Given the description of an element on the screen output the (x, y) to click on. 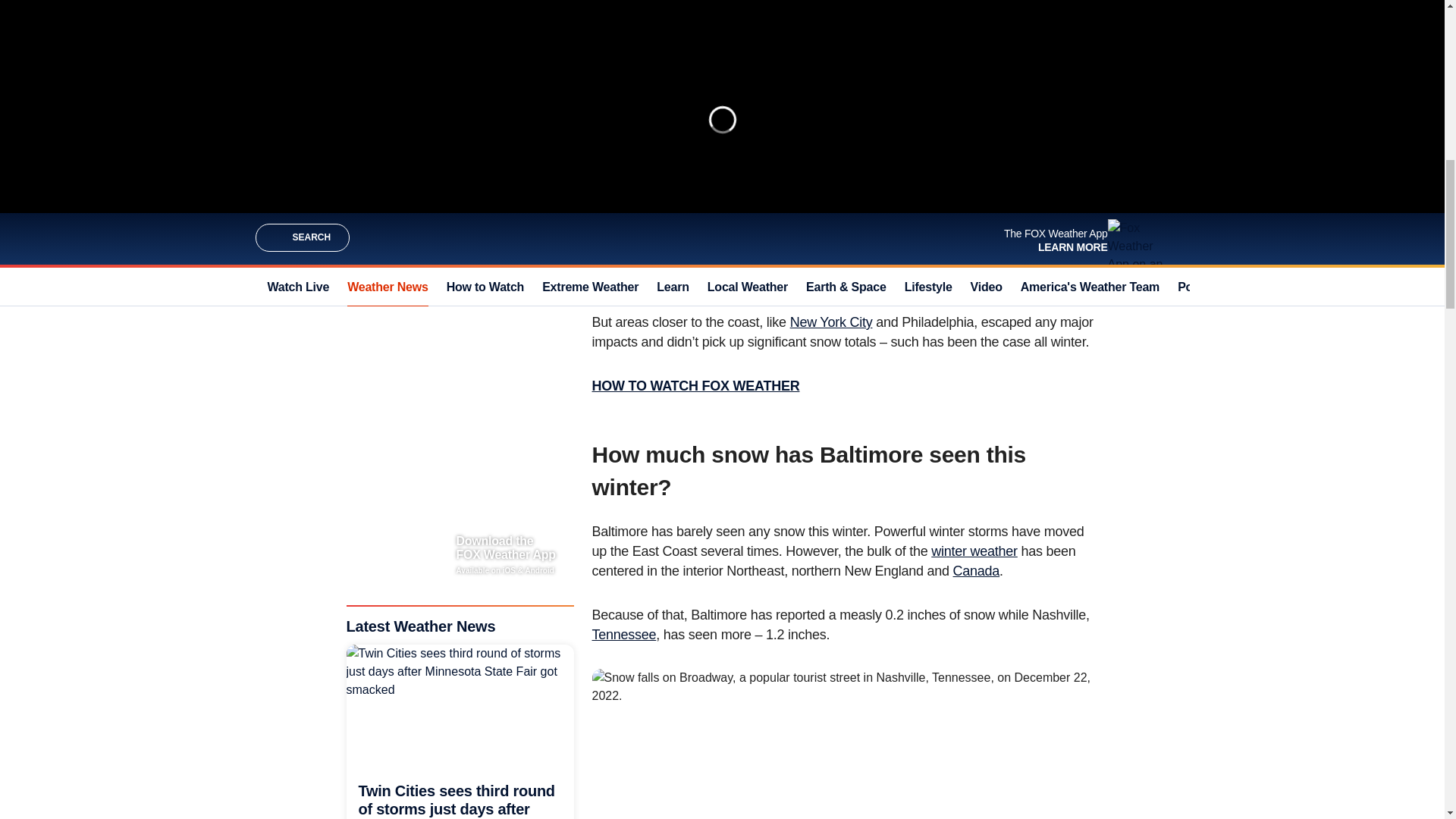
New York City (831, 322)
Northeast (899, 174)
winter, (767, 194)
winter weather (974, 550)
Canada (976, 570)
snow (646, 194)
HOW TO WATCH FOX WEATHER (695, 385)
Tennessee (623, 634)
